Given the description of an element on the screen output the (x, y) to click on. 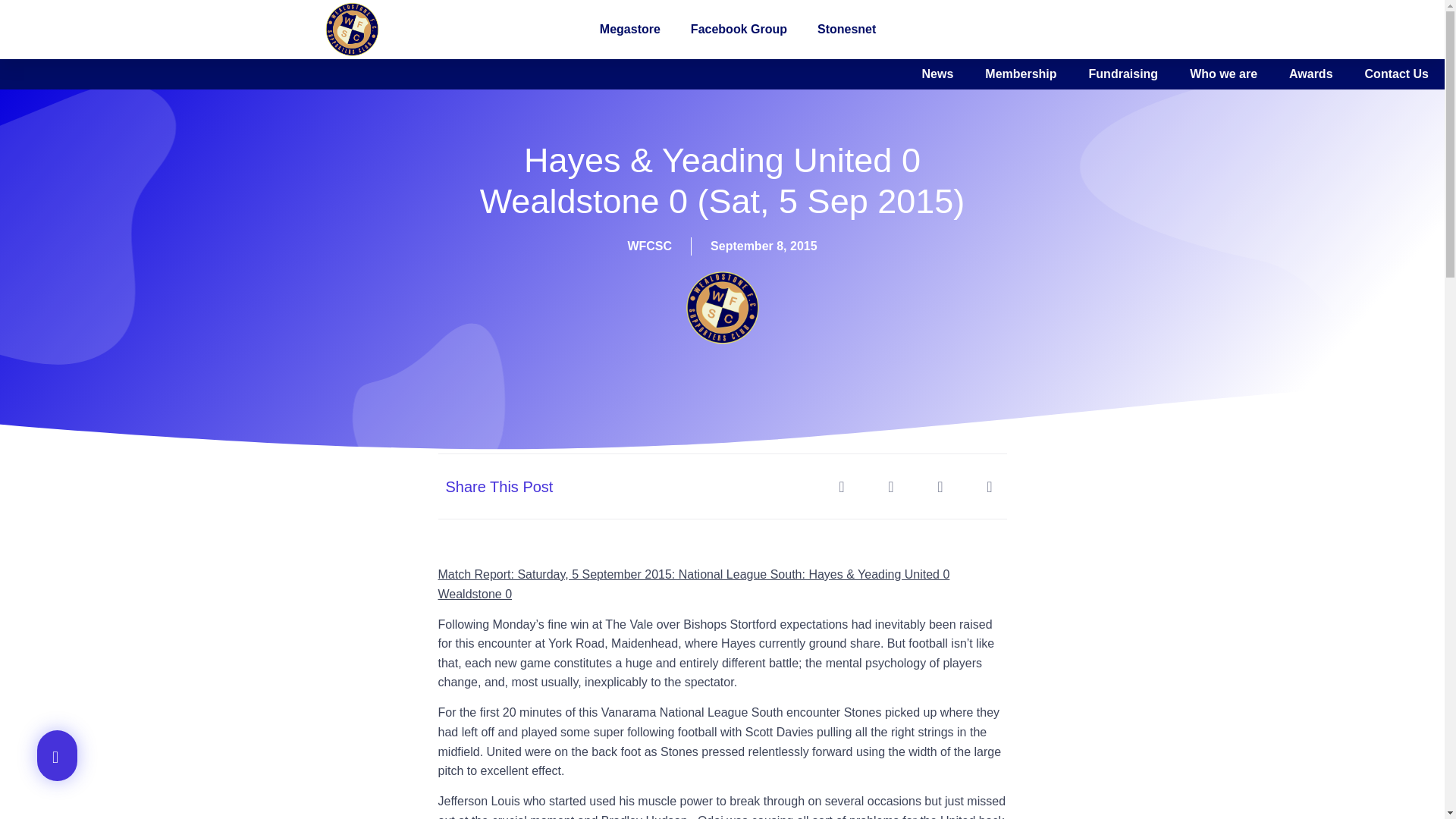
Facebook Group (738, 29)
Membership (517, 73)
Stonesnet (846, 29)
News (400, 73)
Fundraising (653, 73)
Megastore (630, 29)
Awards (907, 73)
Contact Us (1026, 73)
Who we are (786, 73)
